Given the description of an element on the screen output the (x, y) to click on. 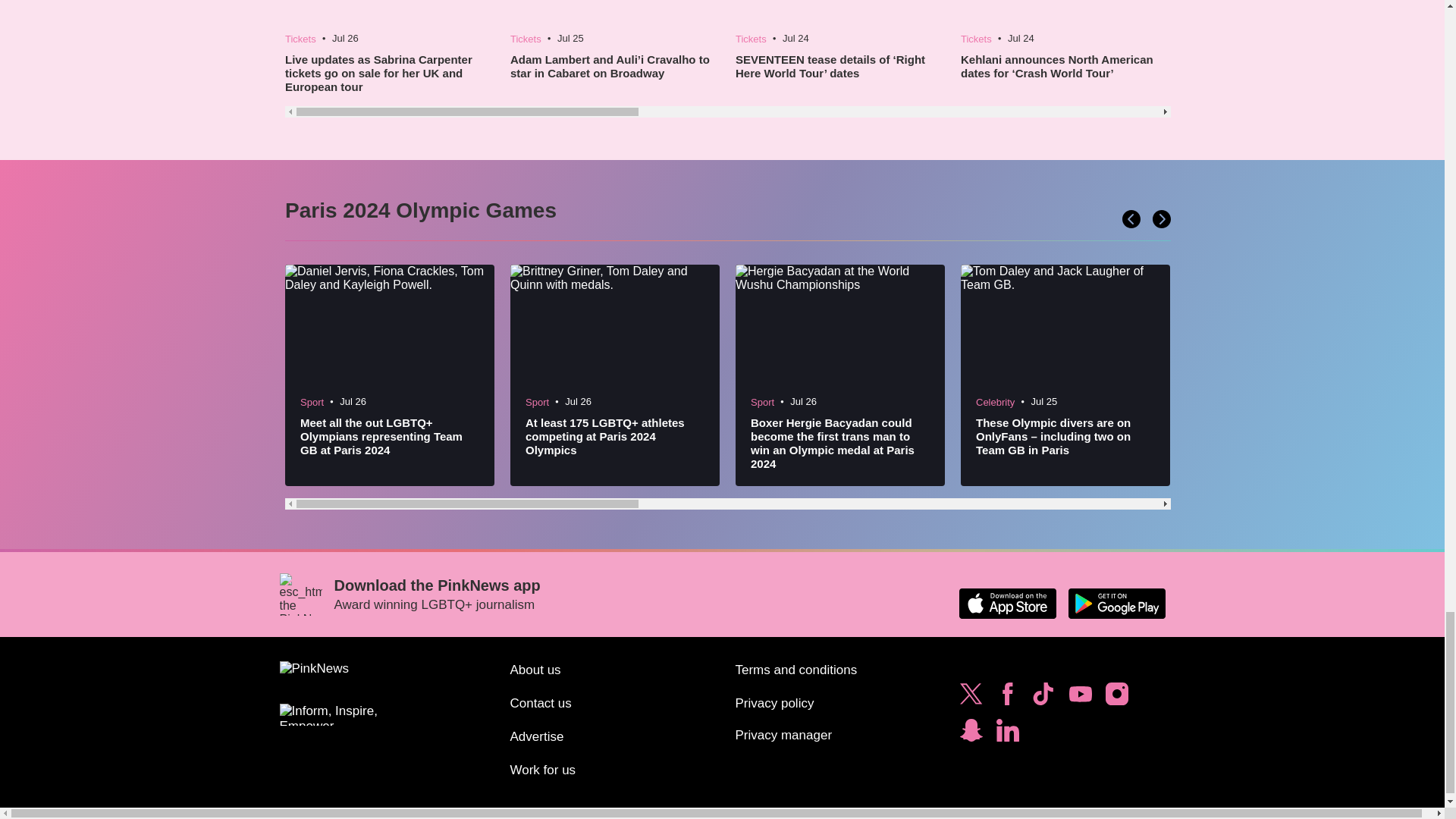
Subscribe to PinkNews on YouTube (1079, 697)
Follow PinkNews on TikTok (1042, 697)
Follow PinkNews on LinkedIn (1007, 733)
Follow PinkNews on Instagram (1116, 697)
Follow PinkNews on Facebook (1007, 697)
Follow PinkNews on Twitter (970, 697)
Subscribe to PinkNews on Snapchat (970, 733)
Download the PinkNews app on the Apple App Store (1006, 603)
Download the PinkNews app on Google Play (1115, 603)
